Given the description of an element on the screen output the (x, y) to click on. 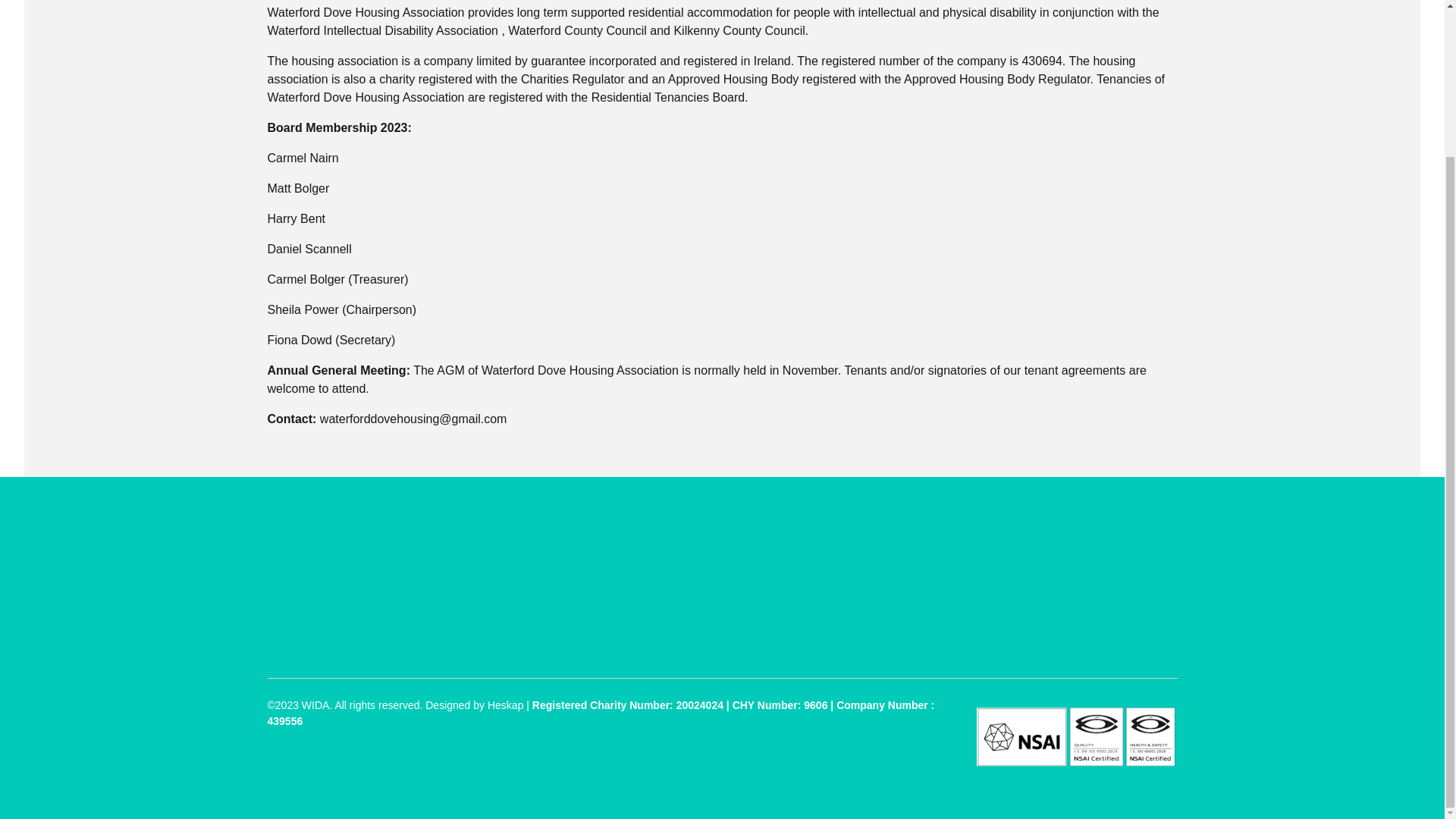
Heskap (504, 705)
